Given the description of an element on the screen output the (x, y) to click on. 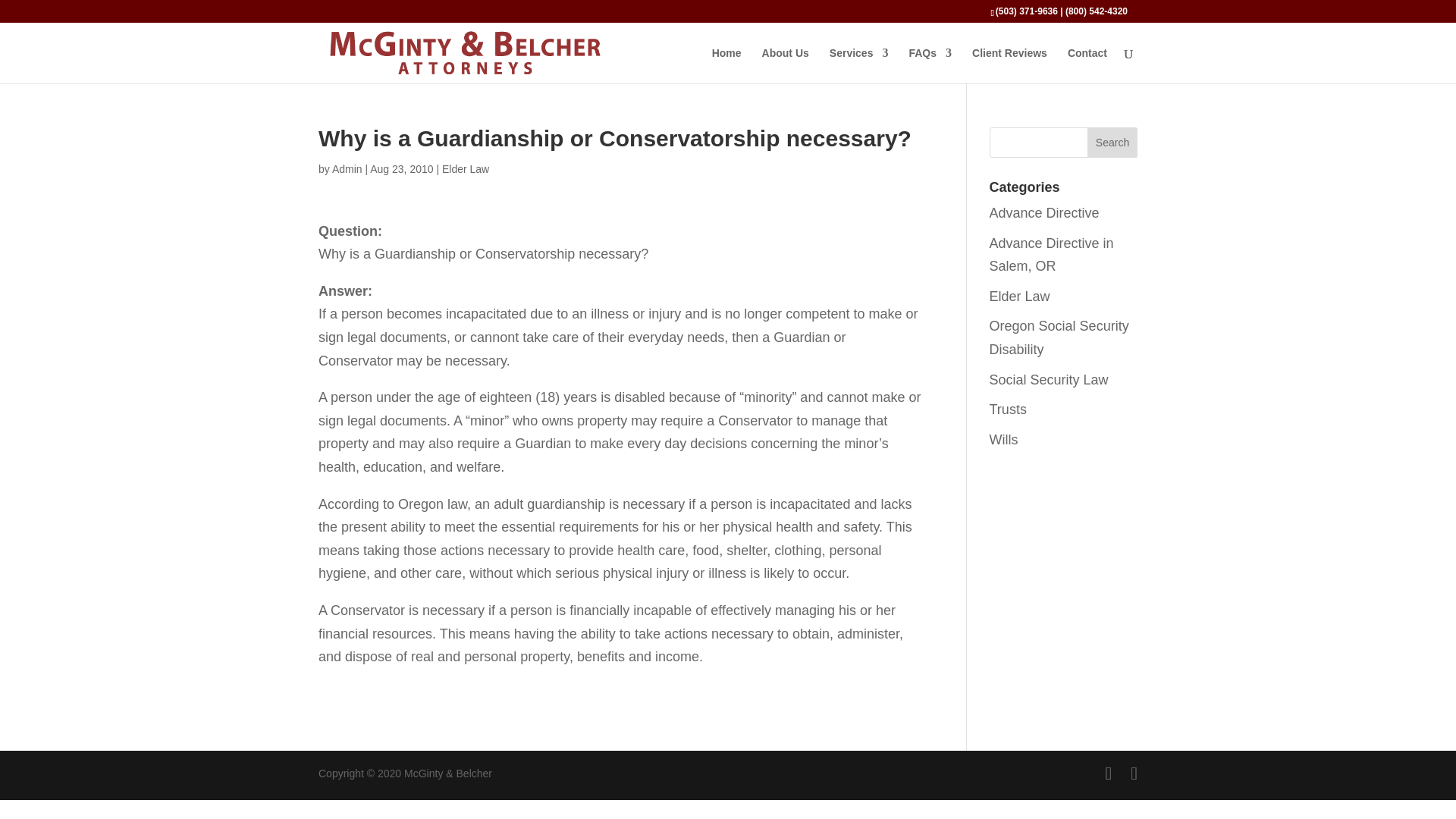
Elder Law (465, 168)
About Us (785, 65)
Search (1112, 142)
Wills (1003, 439)
Advance Directive (1044, 212)
Elder Law (1019, 296)
Search (1112, 142)
Advance Directive in Salem, OR (1051, 254)
Services (858, 65)
Trusts (1008, 409)
FAQs (930, 65)
Admin (346, 168)
Contact (1086, 65)
Social Security Law (1049, 379)
Posts by Admin (346, 168)
